Given the description of an element on the screen output the (x, y) to click on. 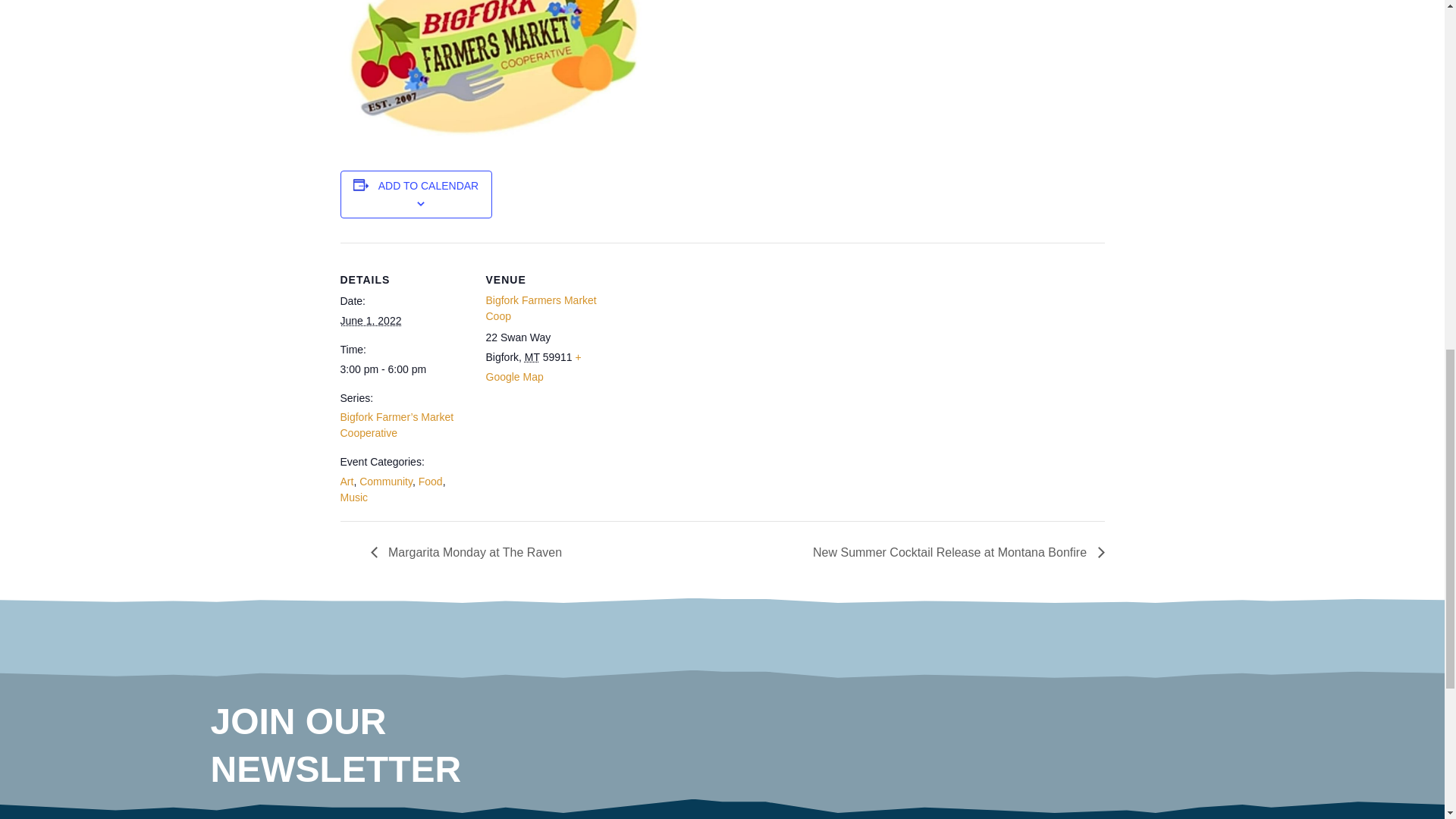
Montana (532, 357)
2022-06-01 (403, 369)
Click to view a Google Map (532, 367)
2022-06-01 (370, 320)
